Given the description of an element on the screen output the (x, y) to click on. 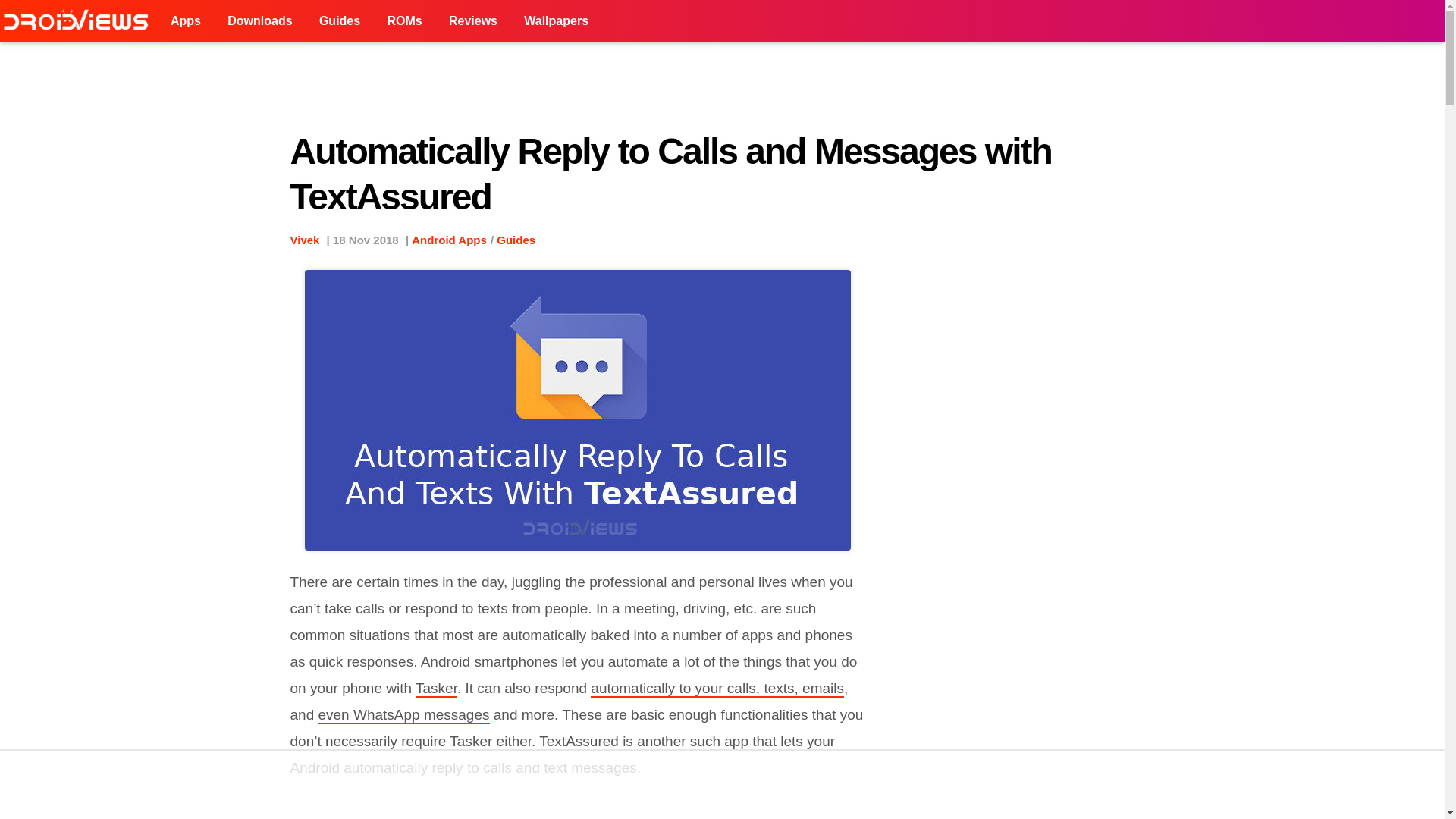
Apps (185, 20)
automatically to your calls, texts, emails (717, 688)
Tasker (435, 688)
Android Apps (449, 239)
Reviews (473, 20)
Wallpapers (555, 20)
Downloads (258, 20)
DroidViews (79, 20)
Guides (339, 20)
ROMs (403, 20)
Guides (515, 239)
Vivek (303, 239)
even WhatsApp messages (403, 714)
